Given the description of an element on the screen output the (x, y) to click on. 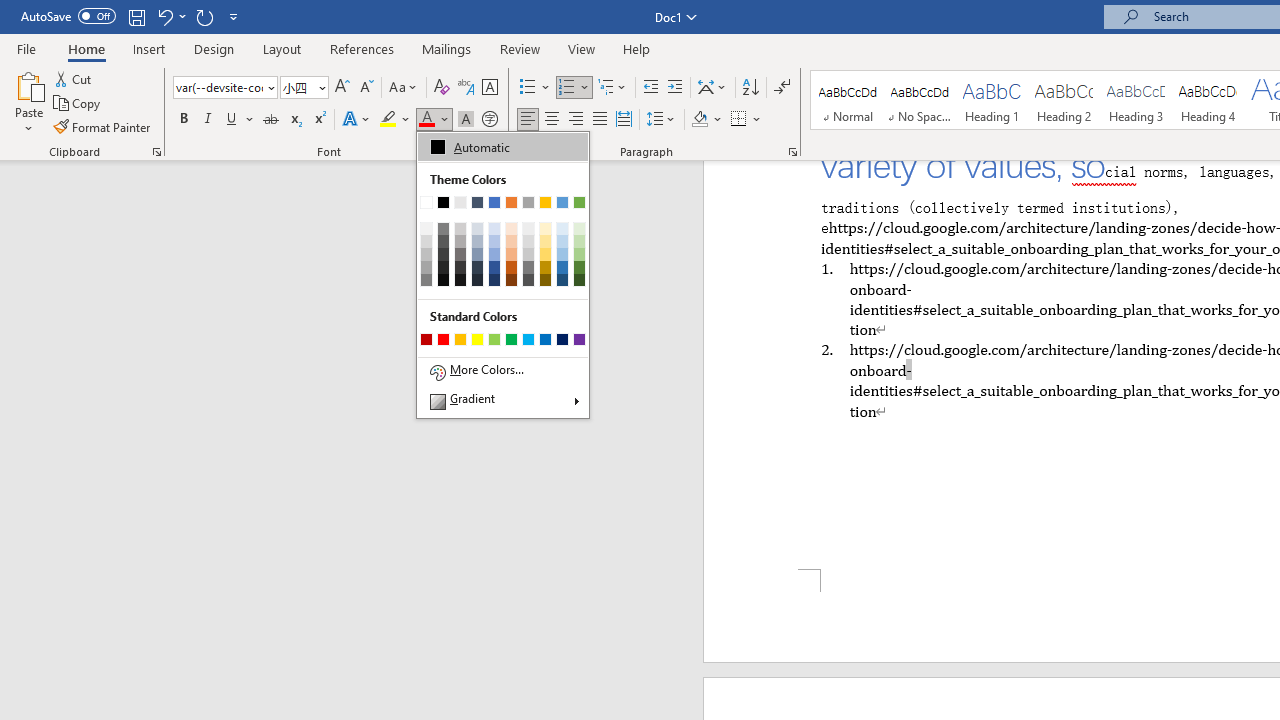
Heading 2 (1063, 100)
